Given the description of an element on the screen output the (x, y) to click on. 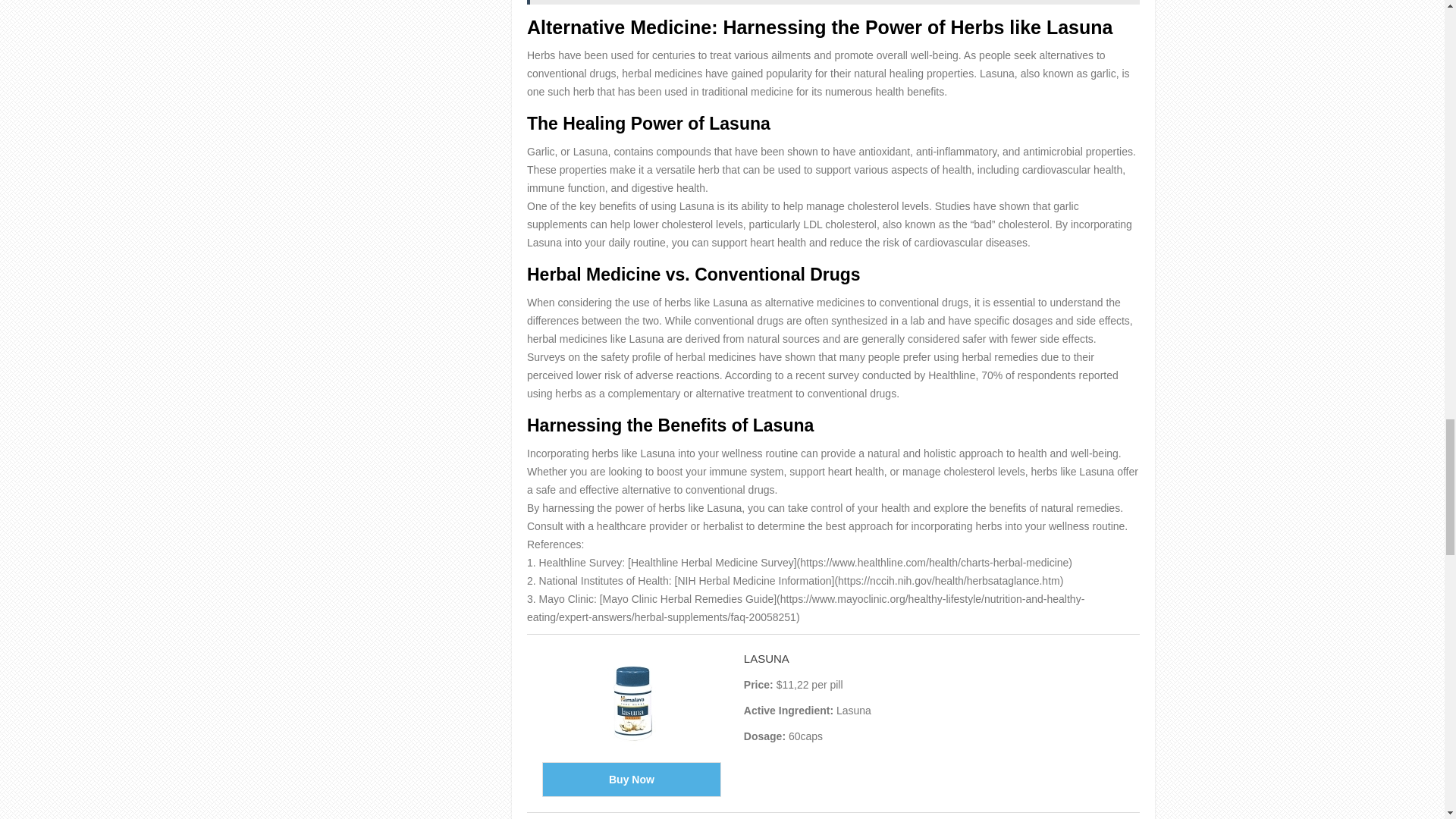
Buy Now (630, 779)
Buy Now (630, 779)
